Given the description of an element on the screen output the (x, y) to click on. 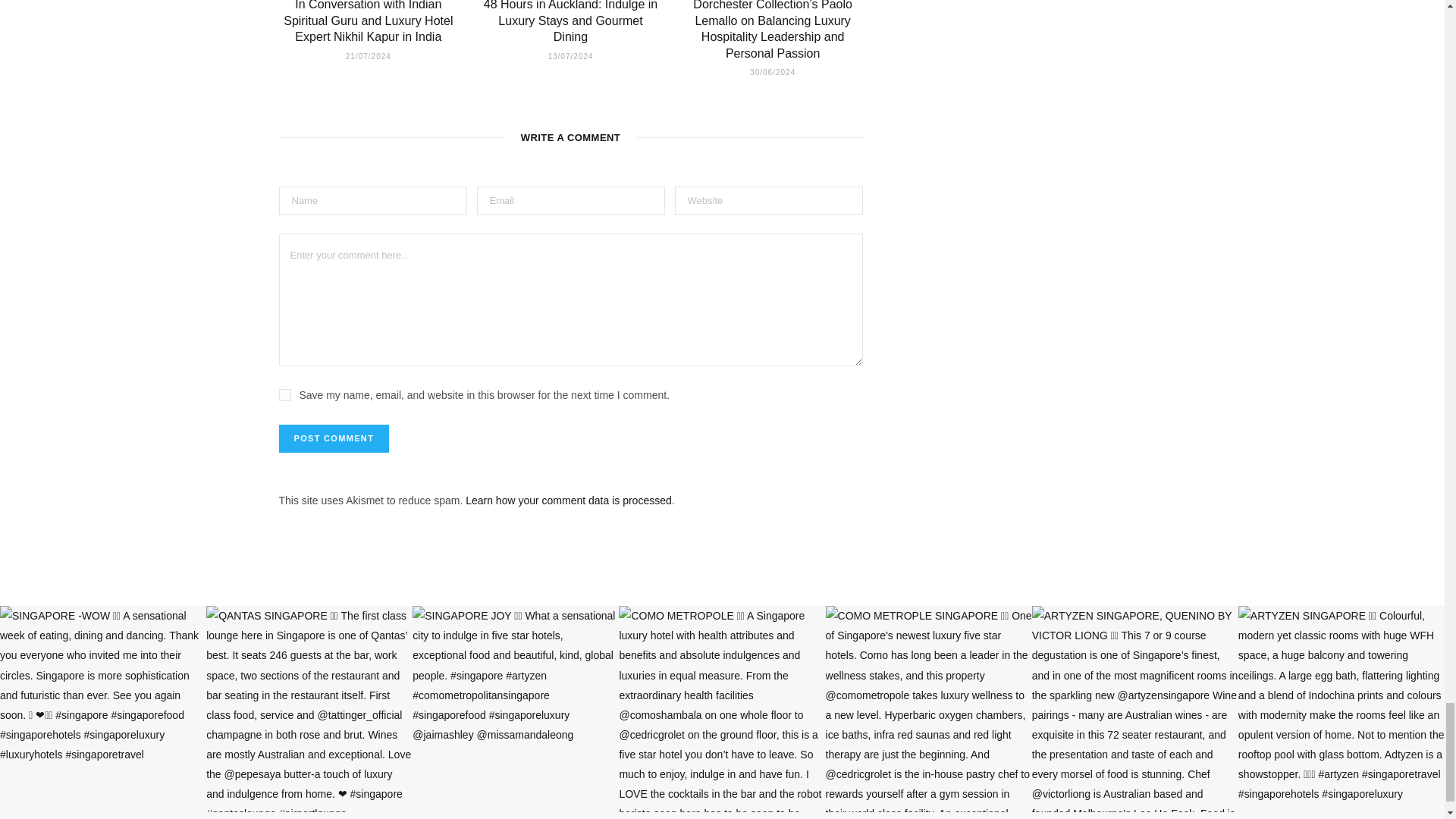
Post Comment (334, 438)
yes (285, 395)
